Given the description of an element on the screen output the (x, y) to click on. 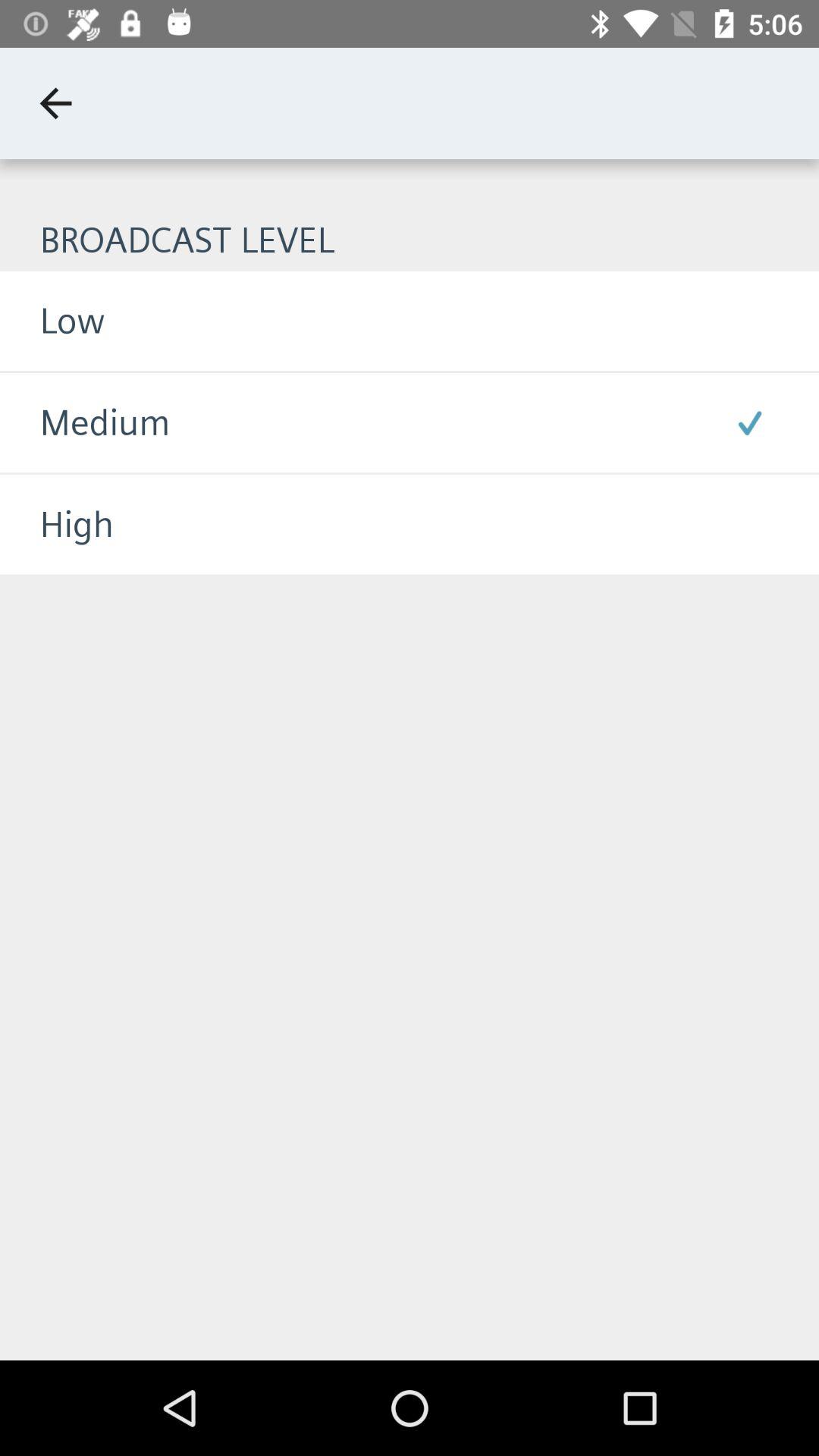
launch item on the left (56, 524)
